Given the description of an element on the screen output the (x, y) to click on. 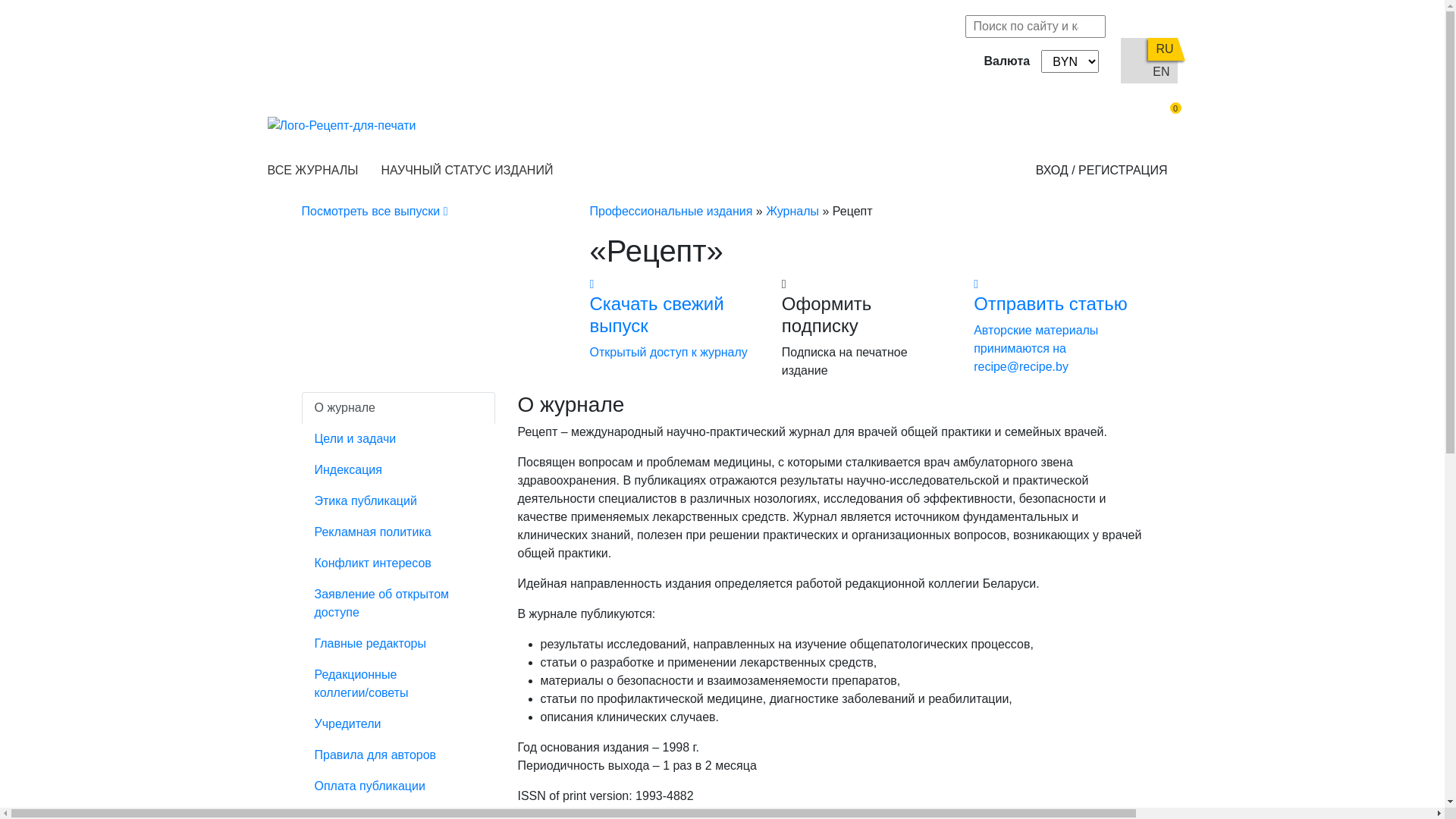
0 Element type: text (1161, 125)
EN Element type: text (1160, 71)
RU Element type: text (1162, 48)
